Given the description of an element on the screen output the (x, y) to click on. 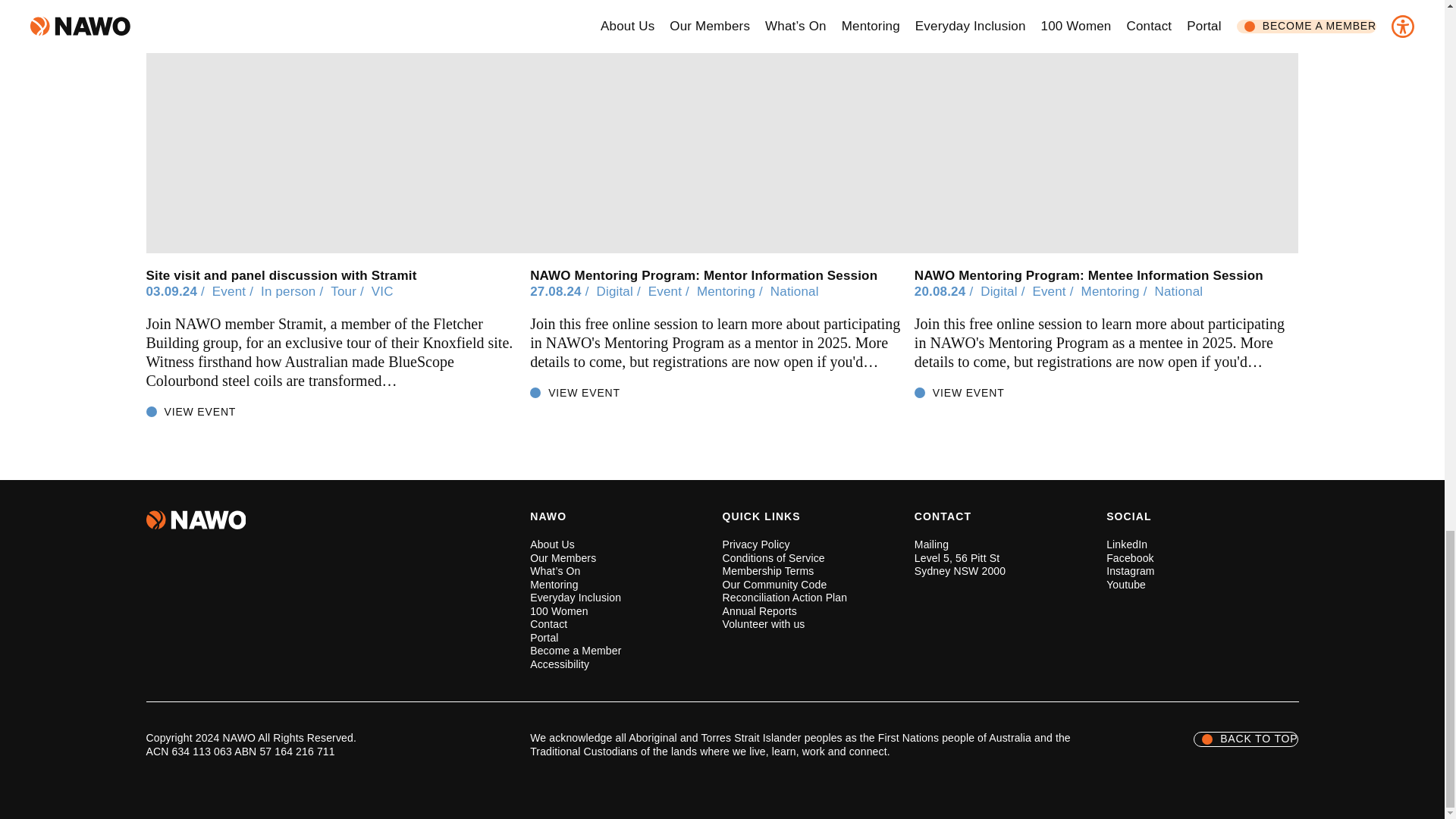
Event (234, 291)
VIC (382, 291)
Tour (349, 291)
In person (293, 291)
Site visit and panel discussion with Stramit (280, 275)
